Given the description of an element on the screen output the (x, y) to click on. 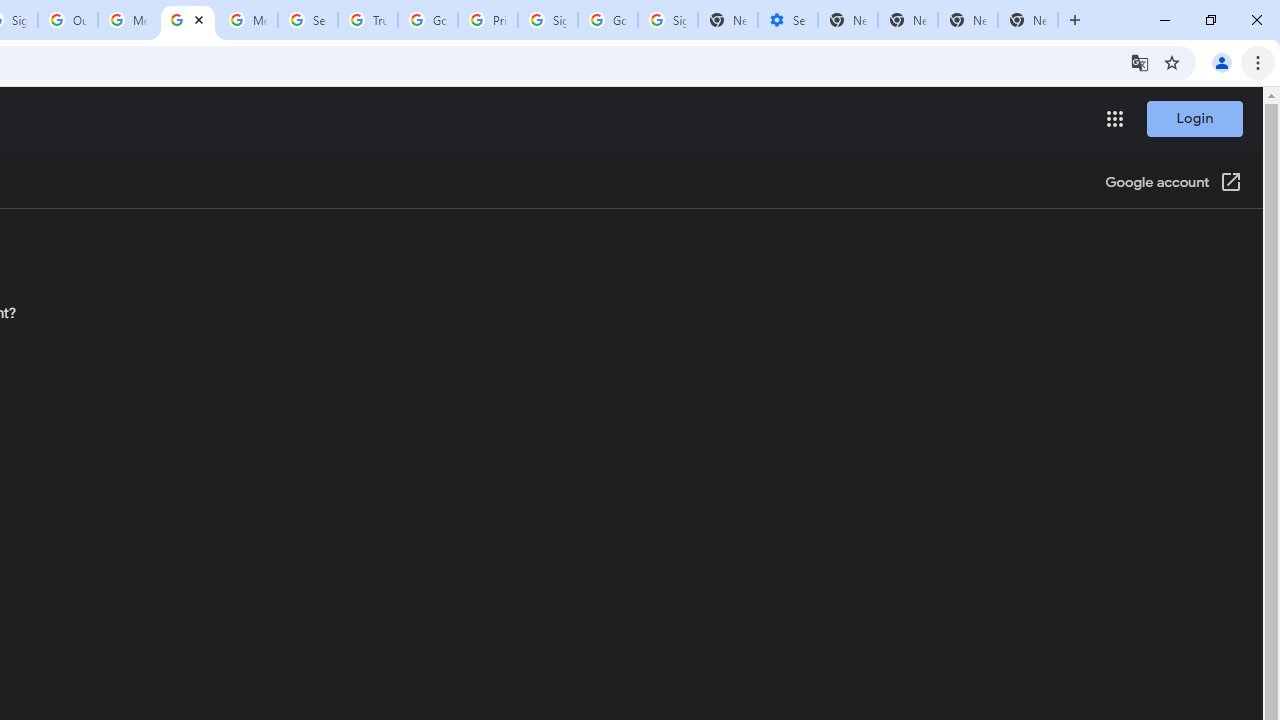
Google Cybersecurity Innovations - Google Safety Center (607, 20)
Translate this page (1139, 62)
Sign in - Google Accounts (548, 20)
Sign in - Google Accounts (667, 20)
Trusted Information and Content - Google Safety Center (367, 20)
